Given the description of an element on the screen output the (x, y) to click on. 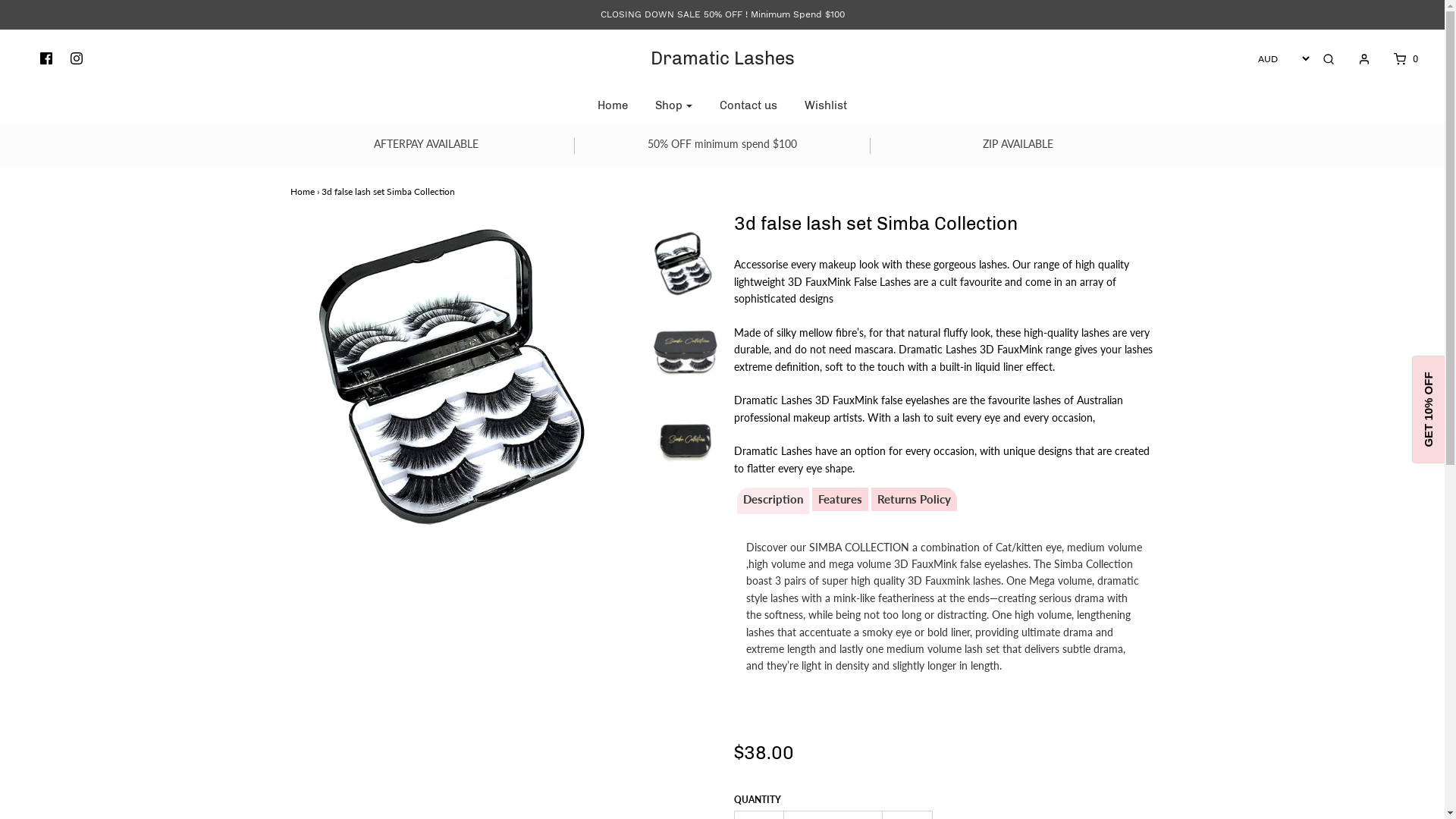
Search Element type: hover (1328, 59)
0 Element type: text (1396, 59)
Facebook icon Element type: text (45, 58)
Shop Element type: text (673, 105)
3d false lash set Simba Collection Element type: hover (685, 354)
Home Element type: text (612, 105)
Dramatic Lashes Element type: text (721, 58)
Wishlist Element type: text (825, 105)
Features Element type: text (839, 499)
False eyelash Triple Pack Element type: hover (685, 266)
Log in Element type: hover (1356, 59)
3d false lash set Simba Collection Element type: hover (685, 444)
Instagram icon Element type: text (76, 58)
Home Element type: text (301, 191)
Description Element type: text (773, 499)
Returns Policy Element type: text (913, 499)
Contact us Element type: text (748, 105)
